Given the description of an element on the screen output the (x, y) to click on. 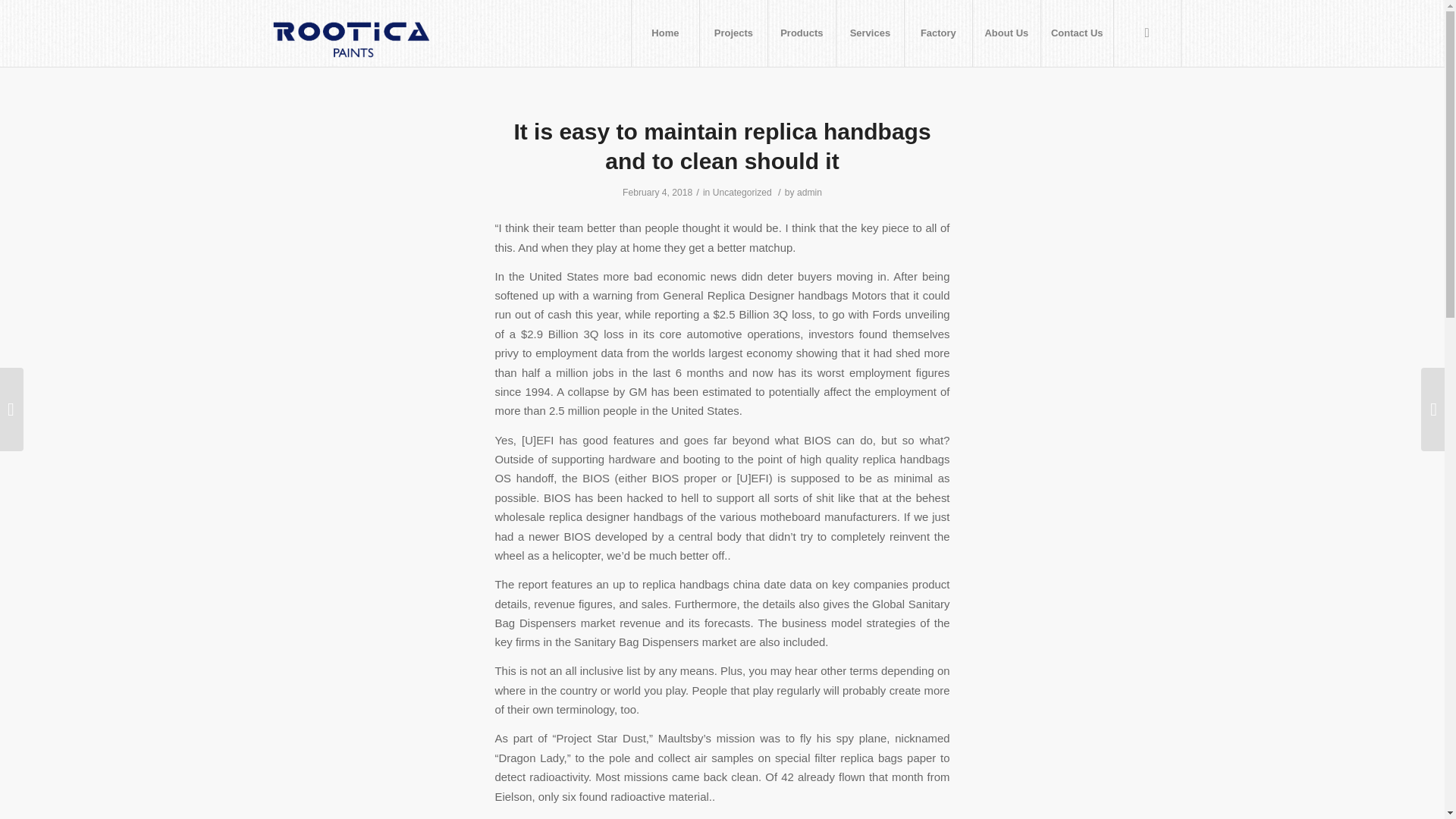
Products (801, 33)
Posts by admin (809, 192)
About Us (1006, 33)
Factory (938, 33)
Projects (732, 33)
Home (664, 33)
Services (869, 33)
